Given the description of an element on the screen output the (x, y) to click on. 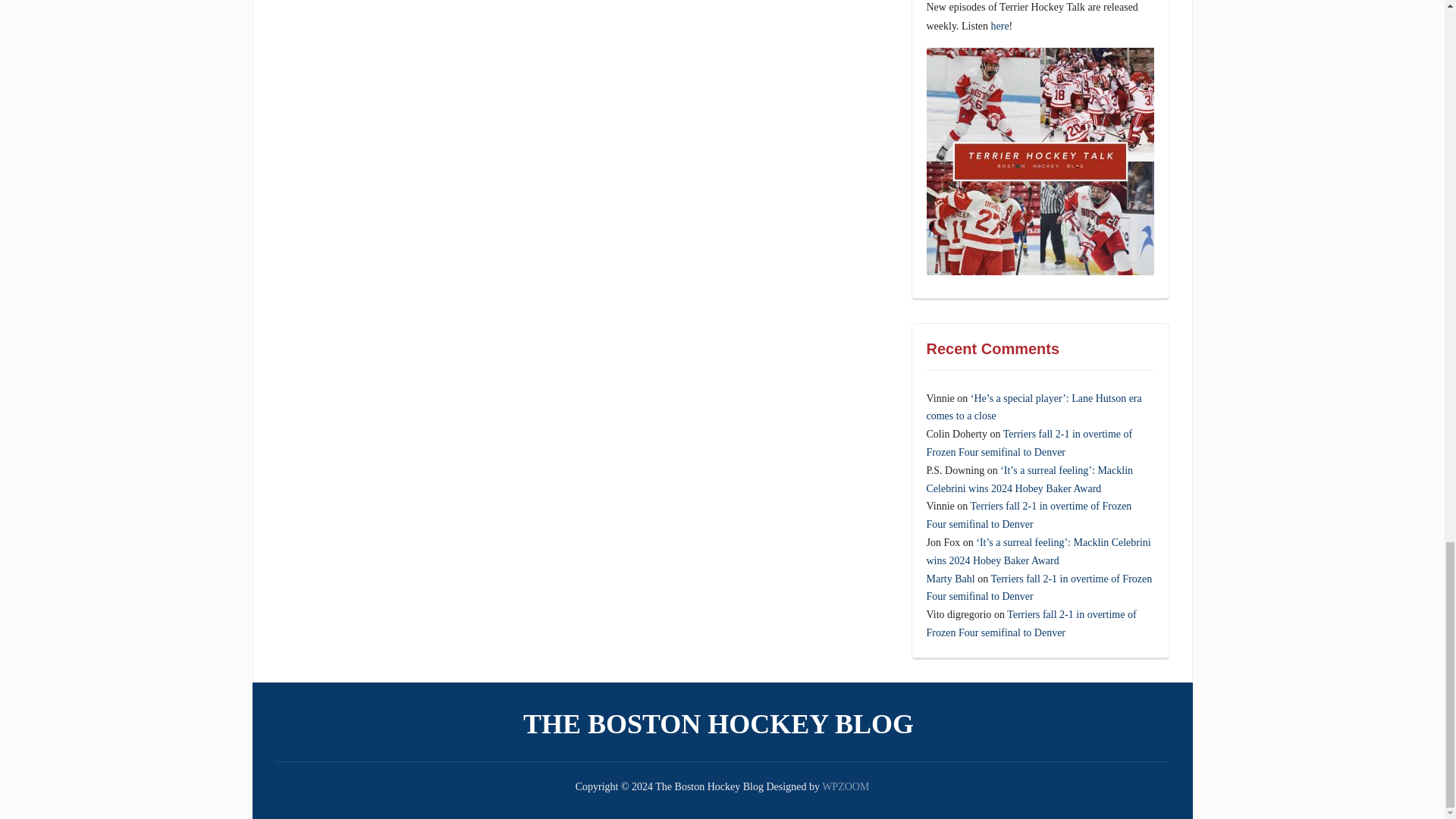
WPZOOM WordPress Themes (845, 786)
here (1000, 25)
